Given the description of an element on the screen output the (x, y) to click on. 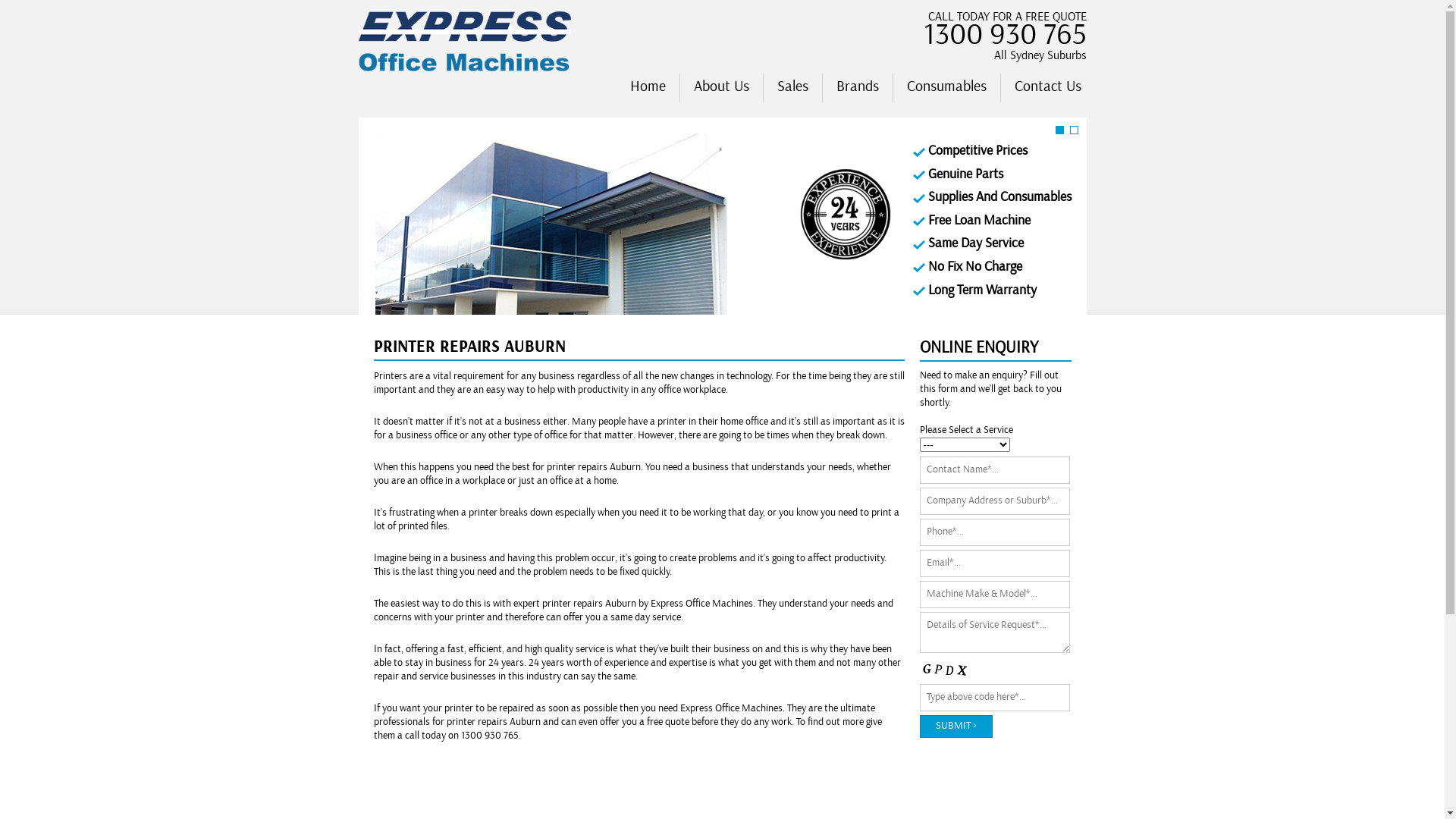
About Us Element type: text (720, 87)
Contact Us Element type: text (1048, 87)
Consumables Element type: text (946, 87)
slider-2 Element type: hover (721, 215)
Brands Element type: text (856, 87)
2 Element type: text (1072, 130)
Submit > Element type: text (955, 726)
Home Element type: text (646, 87)
1 Element type: text (1059, 130)
Sales Element type: text (791, 87)
